Given the description of an element on the screen output the (x, y) to click on. 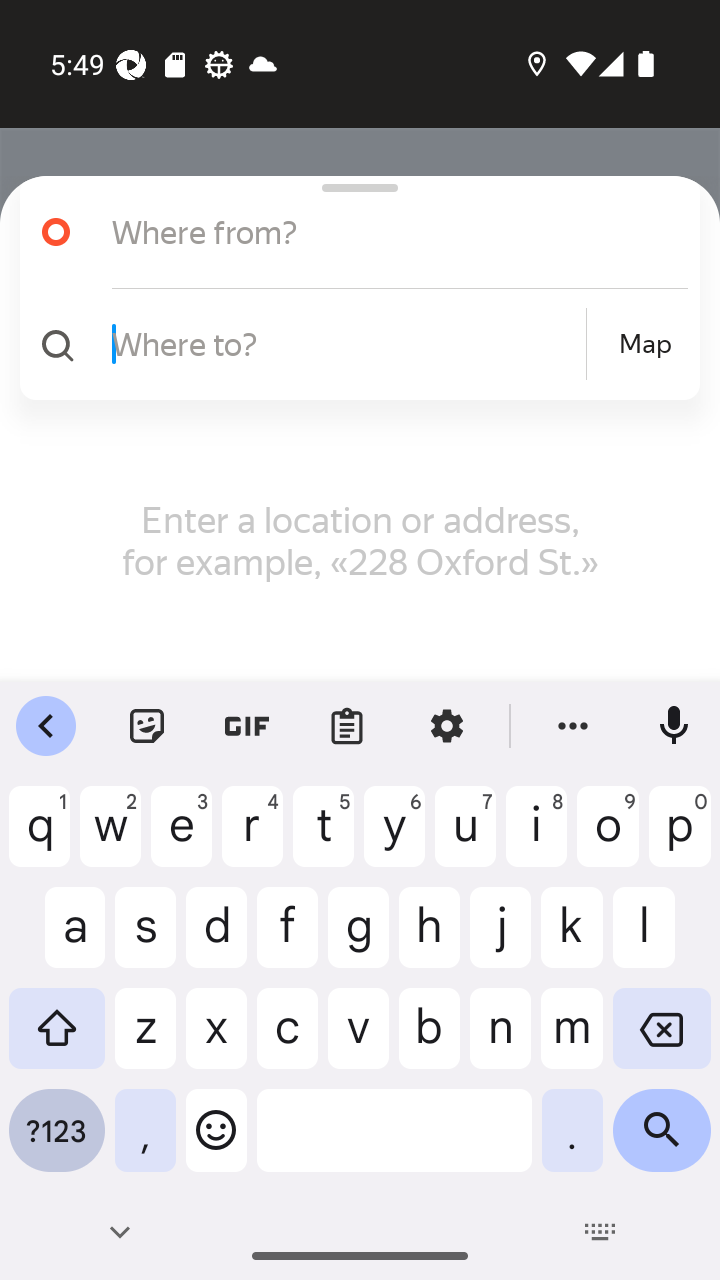
Where from? (352, 232)
Where from? (373, 232)
Where to? Map Map (352, 343)
Map (645, 343)
Where to? (346, 343)
